Given the description of an element on the screen output the (x, y) to click on. 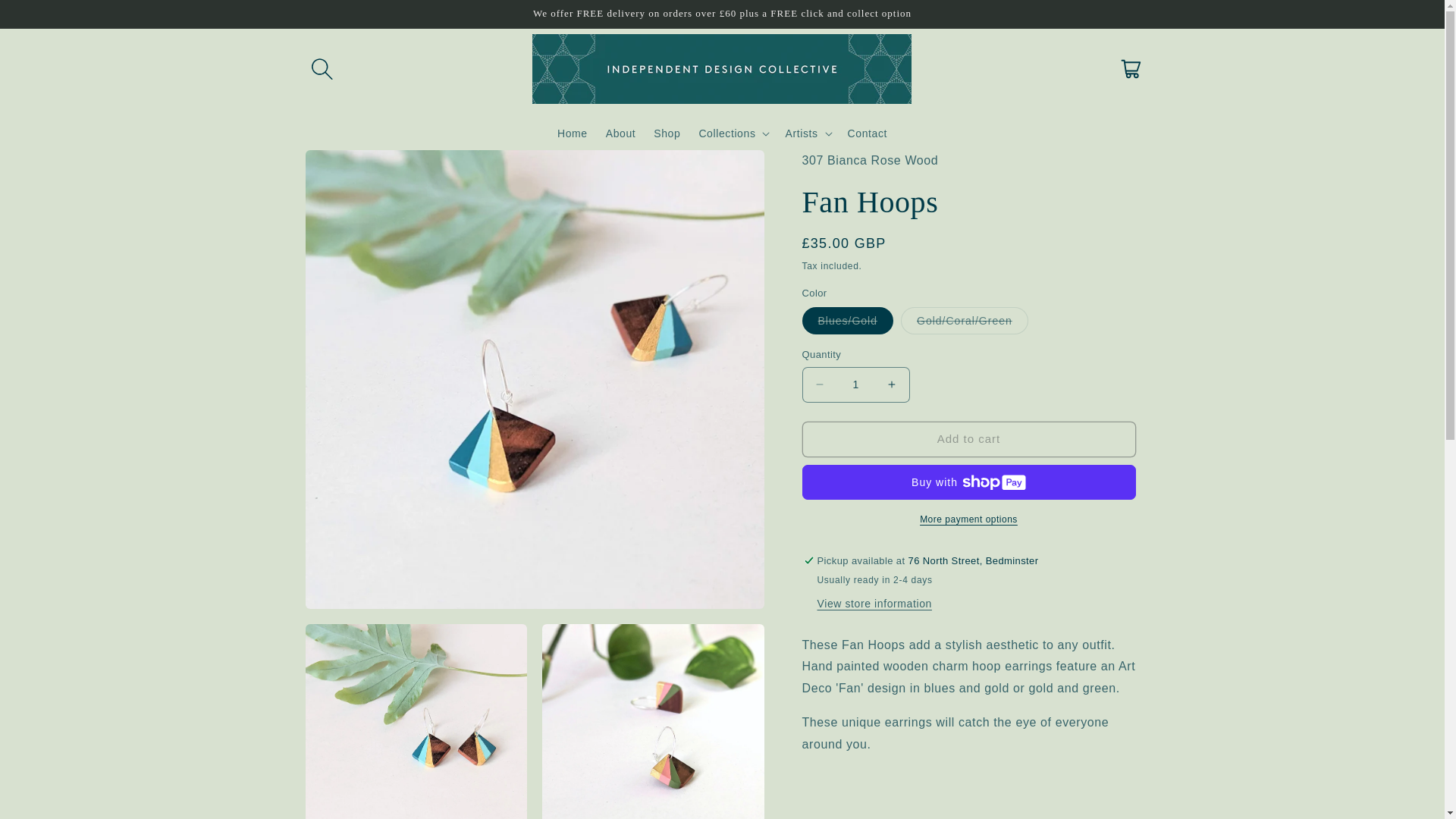
Home (572, 133)
About (620, 133)
Skip to content (45, 17)
Shop (666, 133)
1 (856, 384)
